Given the description of an element on the screen output the (x, y) to click on. 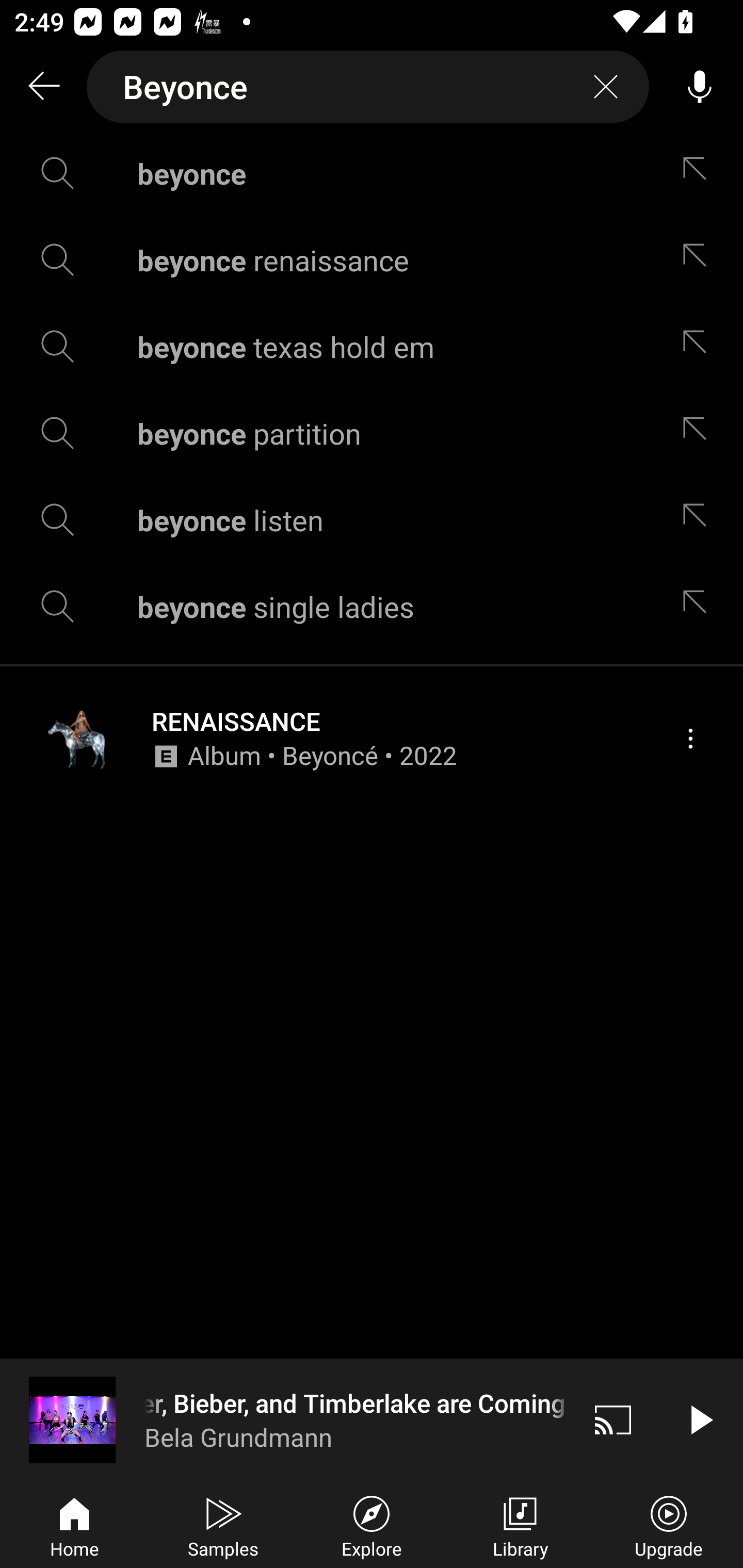
Search back (43, 86)
Beyonce (367, 86)
Clear search (605, 86)
Voice search (699, 86)
beyonce Edit suggestion beyonce (371, 173)
Edit suggestion beyonce (699, 173)
Edit suggestion beyonce renaissance (699, 259)
Edit suggestion beyonce texas hold em (699, 346)
Edit suggestion beyonce partition (699, 433)
beyonce listen Edit suggestion beyonce listen (371, 519)
Edit suggestion beyonce listen (699, 519)
Edit suggestion beyonce single ladies (699, 605)
Menu (690, 738)
Cast. Disconnected (612, 1419)
Play video (699, 1419)
Home (74, 1524)
Samples (222, 1524)
Explore (371, 1524)
Library (519, 1524)
Upgrade (668, 1524)
